Given the description of an element on the screen output the (x, y) to click on. 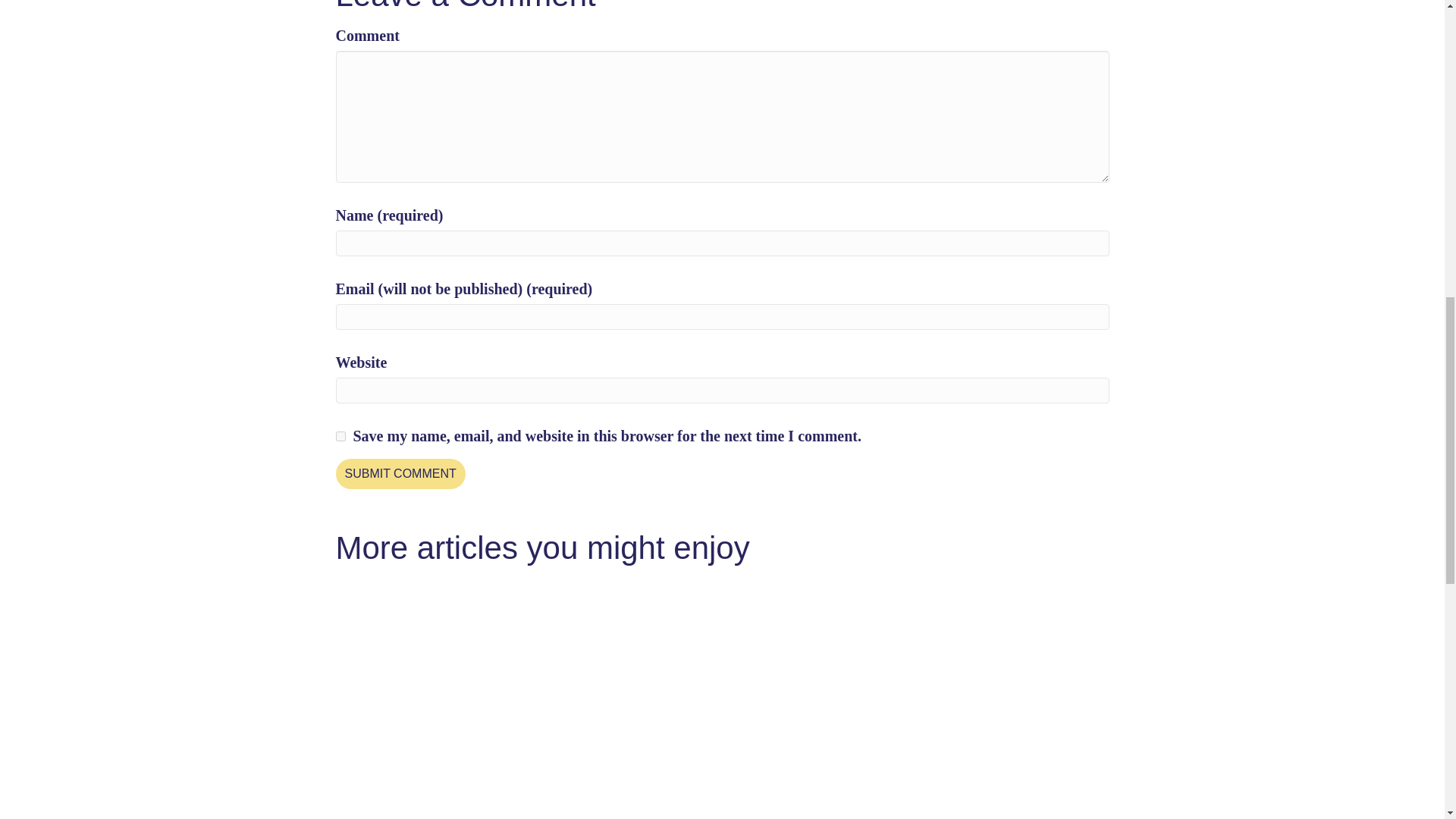
Submit Comment (399, 473)
yes (339, 436)
Submit Comment (399, 473)
